Given the description of an element on the screen output the (x, y) to click on. 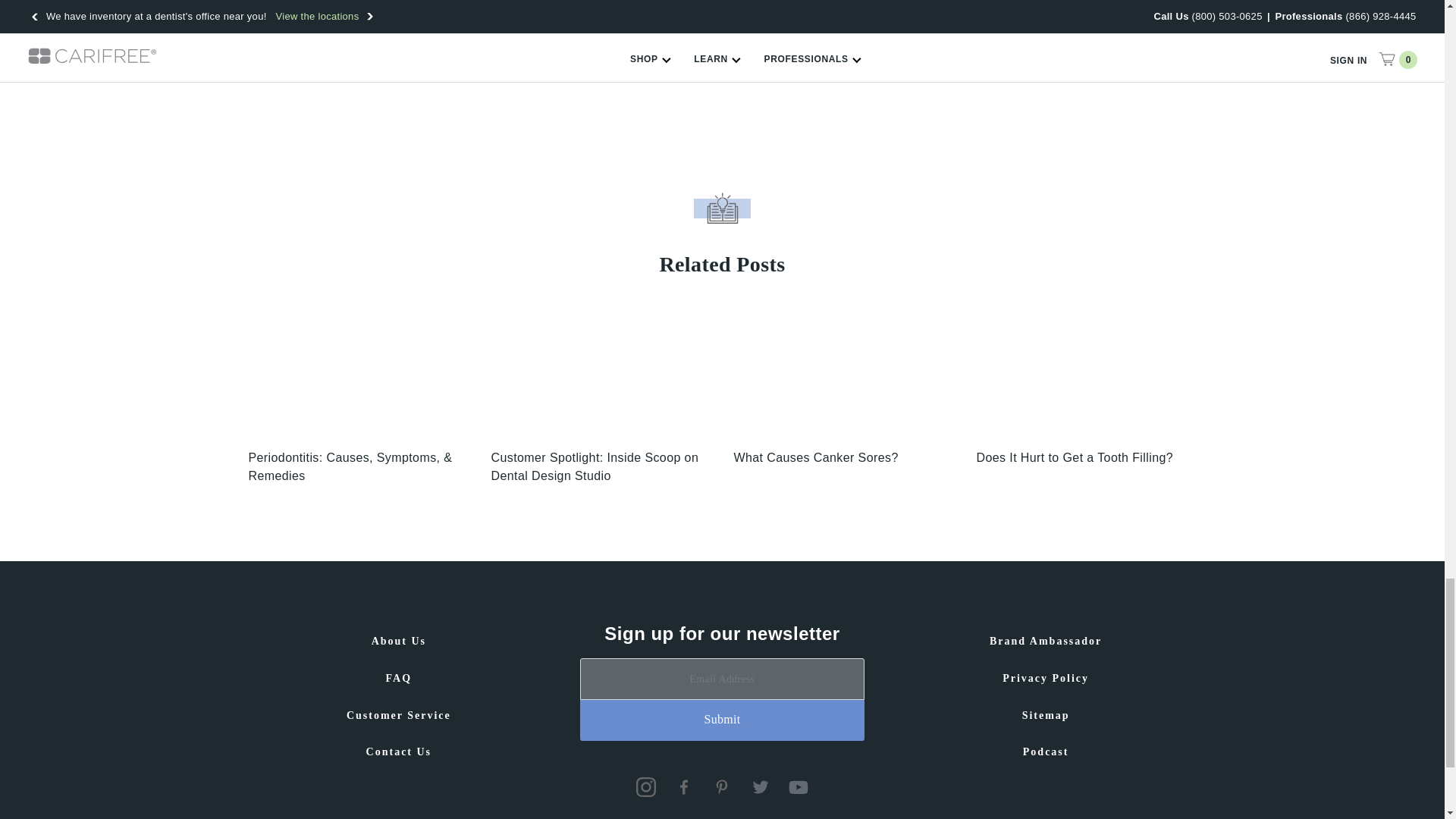
facebook (684, 786)
What Causes Canker Sores? (843, 374)
twitter (760, 786)
pinterest (721, 786)
Studio with lighting equipment (601, 374)
woman-who-has-treated-periodontitis (358, 374)
Does It Really Hurt to Get a Tooth Filling? (1086, 374)
Instagram (646, 786)
youtube (798, 786)
Submit (721, 720)
